Given the description of an element on the screen output the (x, y) to click on. 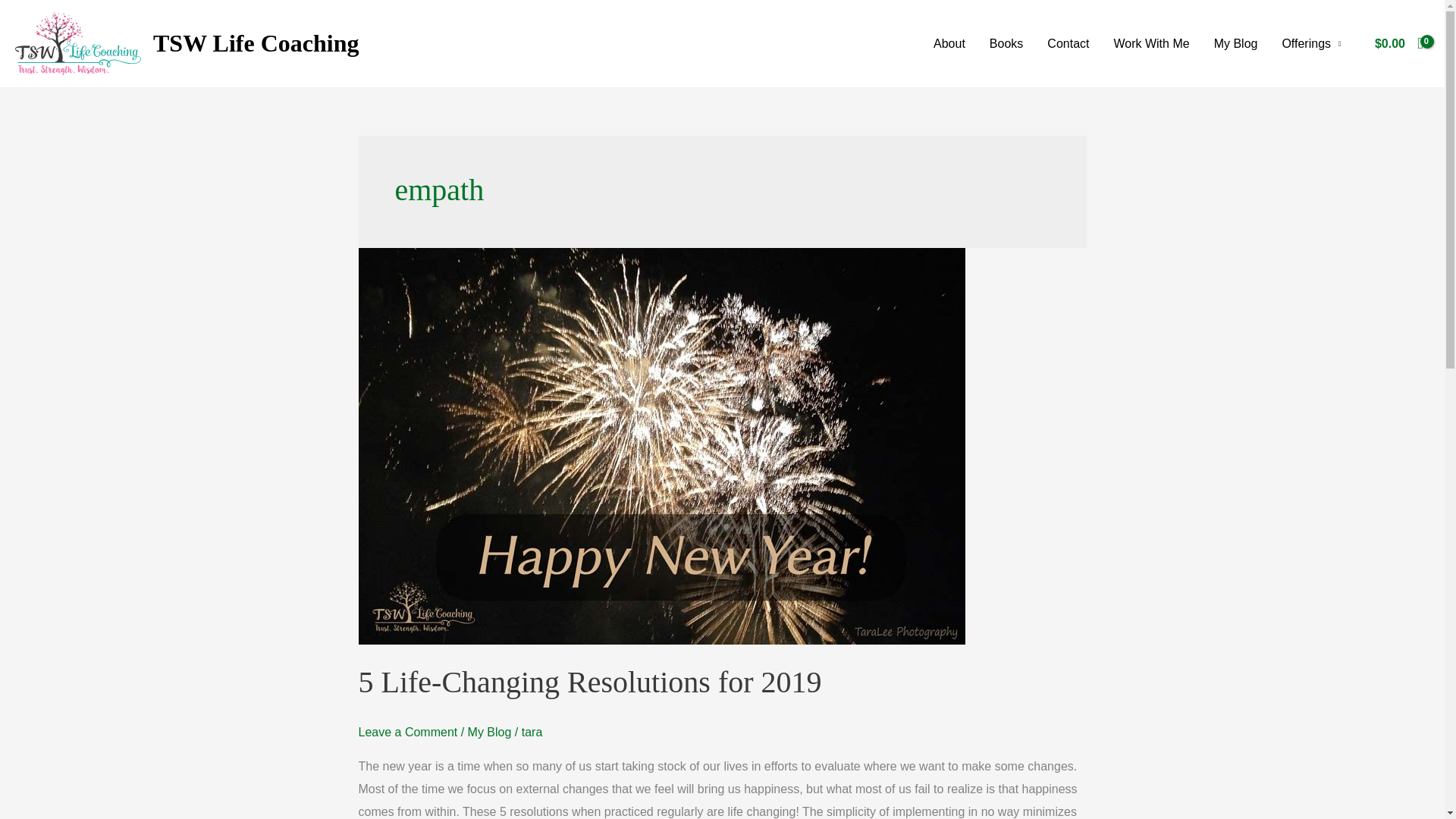
Contact (1067, 42)
TSW Life Coaching (255, 42)
Work With Me (1150, 42)
5 Life-Changing Resolutions for 2019 (589, 682)
Leave a Comment (407, 731)
About (948, 42)
Offerings (1310, 42)
My Blog (1235, 42)
View all posts by tara (532, 731)
Books (1005, 42)
